Given the description of an element on the screen output the (x, y) to click on. 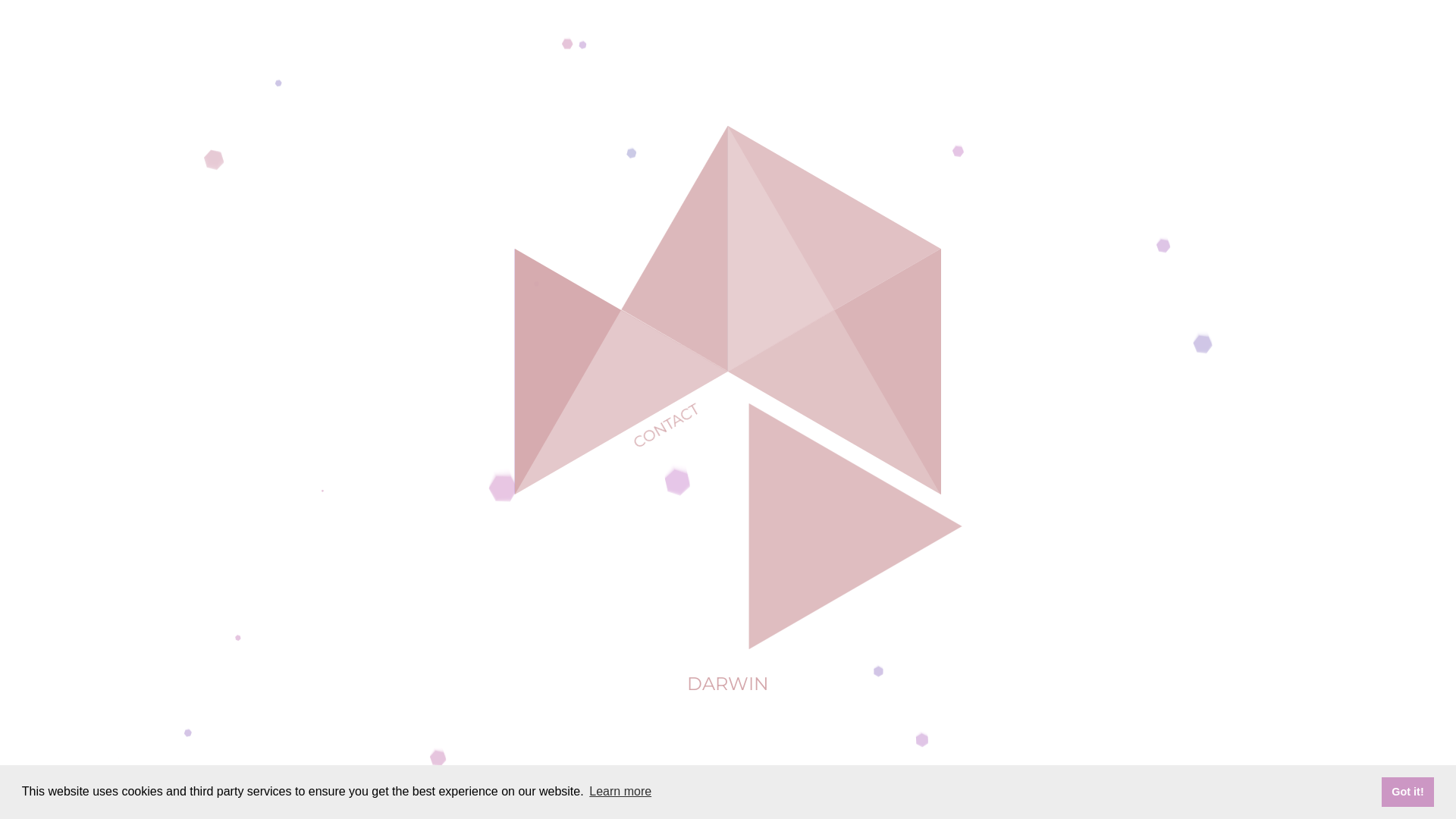
privacy policy Element type: text (726, 802)
Learn more Element type: text (619, 791)
Got it! Element type: text (1407, 791)
impressum Element type: text (654, 802)
